Given the description of an element on the screen output the (x, y) to click on. 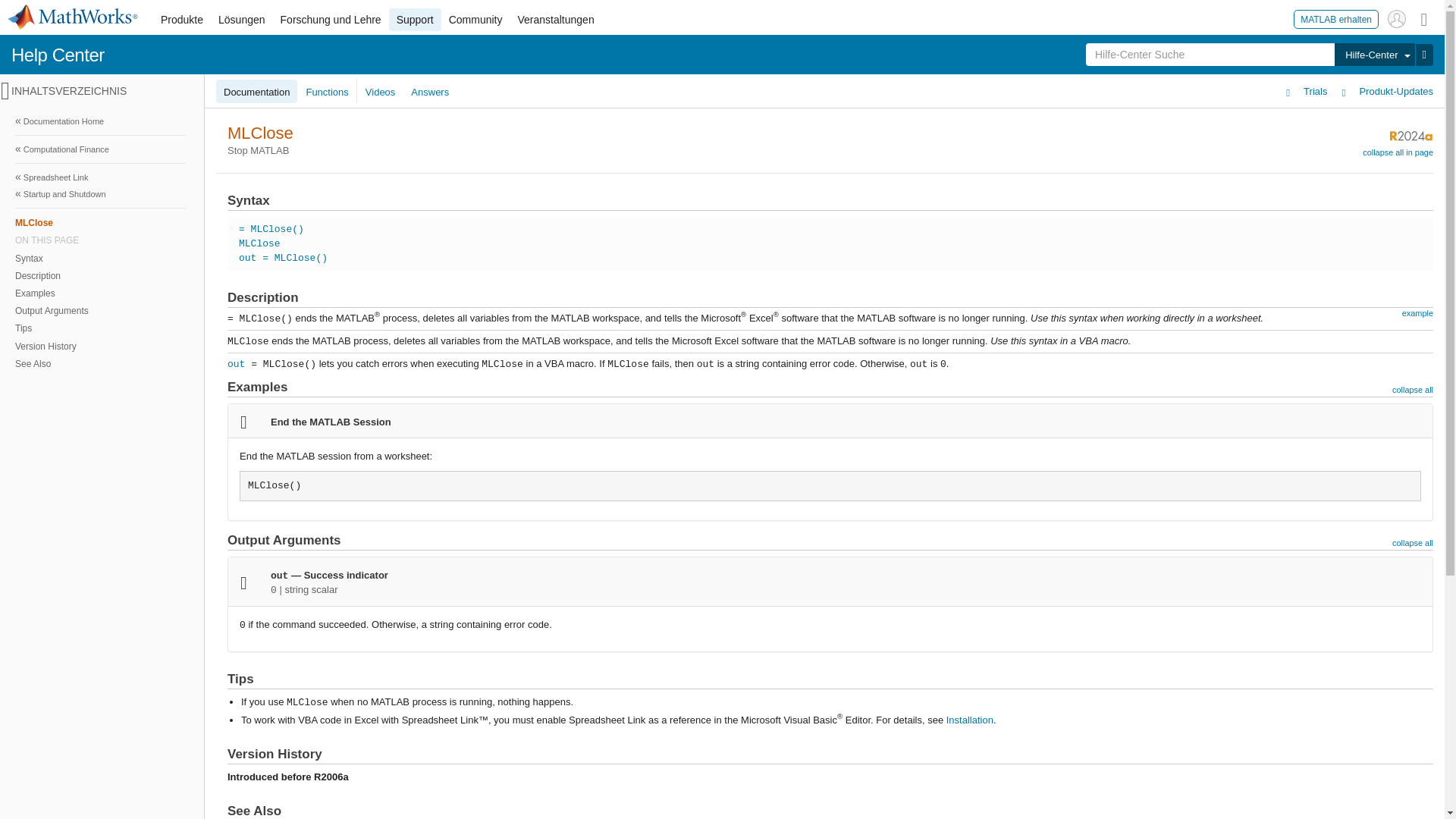
Forschung und Lehre (330, 19)
Veranstaltungen (555, 19)
MATLAB erhalten (1336, 18)
Support (414, 19)
Produkte (181, 19)
ON THIS PAGE (100, 240)
Melden Sie sich bei Ihrem MathWorks Konto an (1396, 18)
Community (476, 19)
MLClose (100, 221)
